Given the description of an element on the screen output the (x, y) to click on. 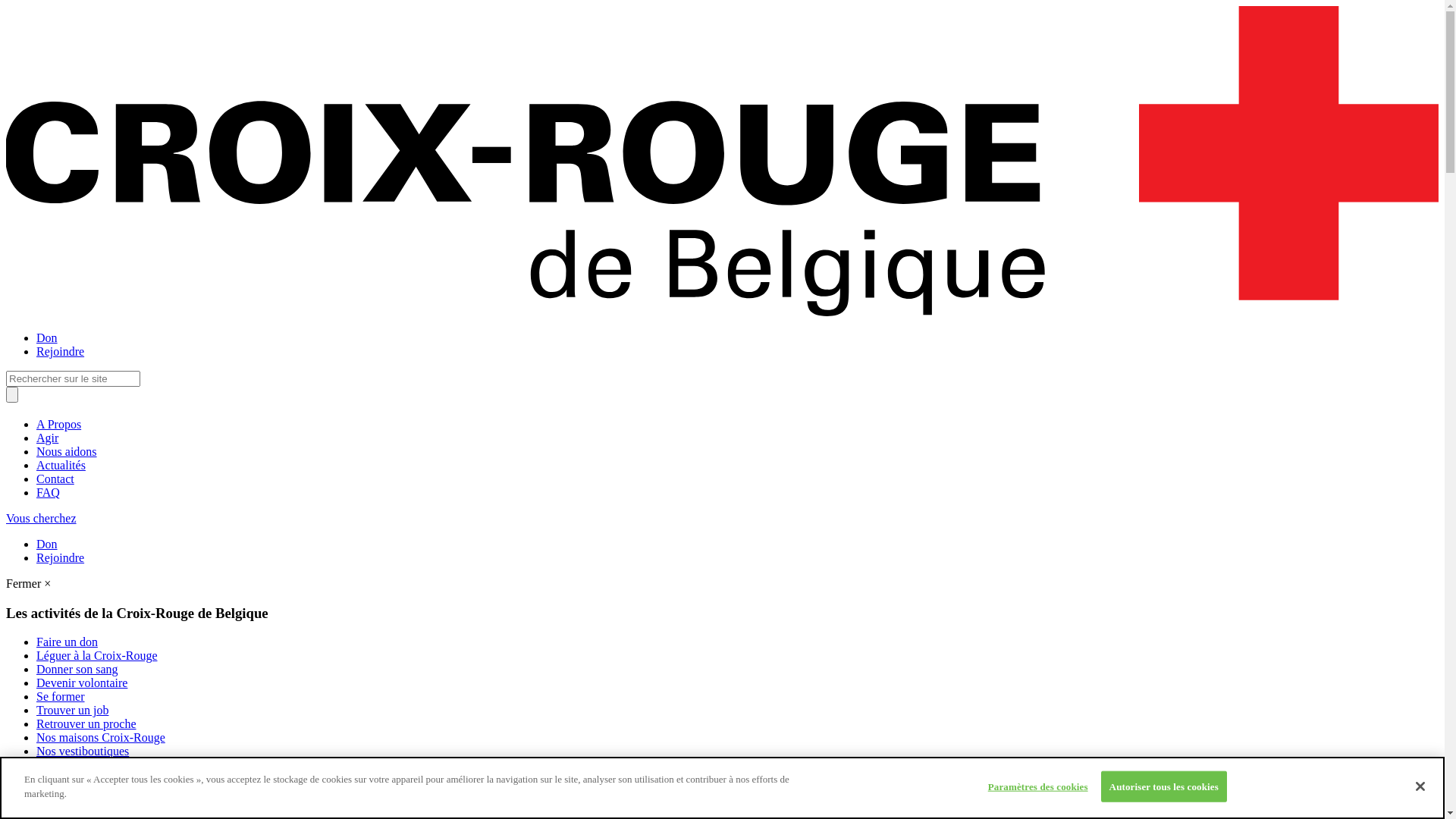
Nos vestiboutiques Element type: text (82, 750)
Faire un don Element type: text (66, 641)
Don Element type: text (46, 543)
A Propos Element type: text (58, 423)
Devenir volontaire Element type: text (81, 682)
Nos transports Element type: text (71, 777)
Donner son sang Element type: text (77, 668)
Don Element type: text (46, 337)
La jeunesse Element type: text (64, 805)
Autoriser tous les cookies Element type: text (1163, 787)
Contact Element type: text (55, 478)
Vous cherchez Element type: text (41, 517)
Nous aidons Element type: text (66, 451)
Se former Element type: text (60, 696)
Notre aide alimentaire Element type: text (90, 791)
Trouver un job Element type: text (72, 709)
FAQ Element type: text (47, 492)
Agir Element type: text (47, 437)
Retrouver un proche Element type: text (86, 723)
Rejoindre Element type: text (60, 351)
Rejoindre Element type: text (60, 557)
Nos maisons Croix-Rouge Element type: text (100, 737)
